Given the description of an element on the screen output the (x, y) to click on. 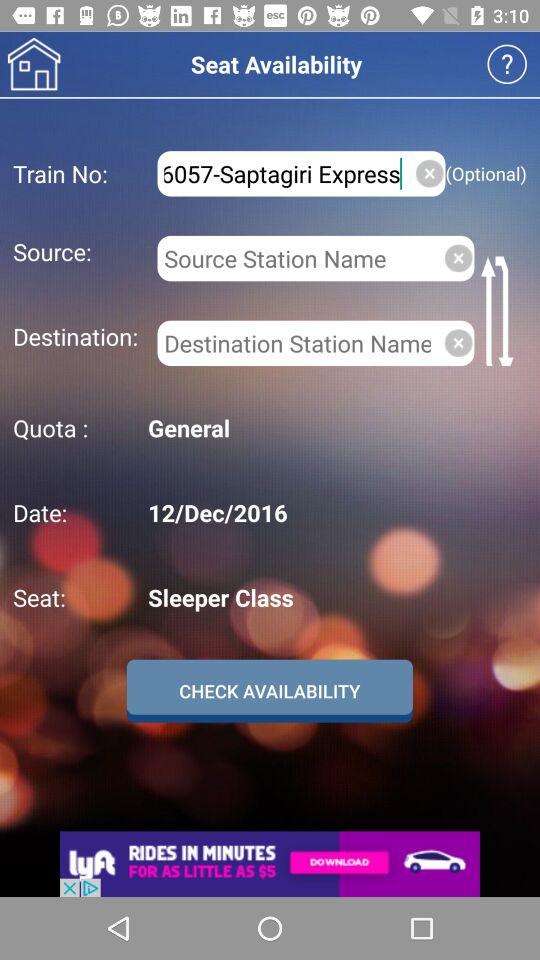
press item above the source: icon (282, 173)
